Given the description of an element on the screen output the (x, y) to click on. 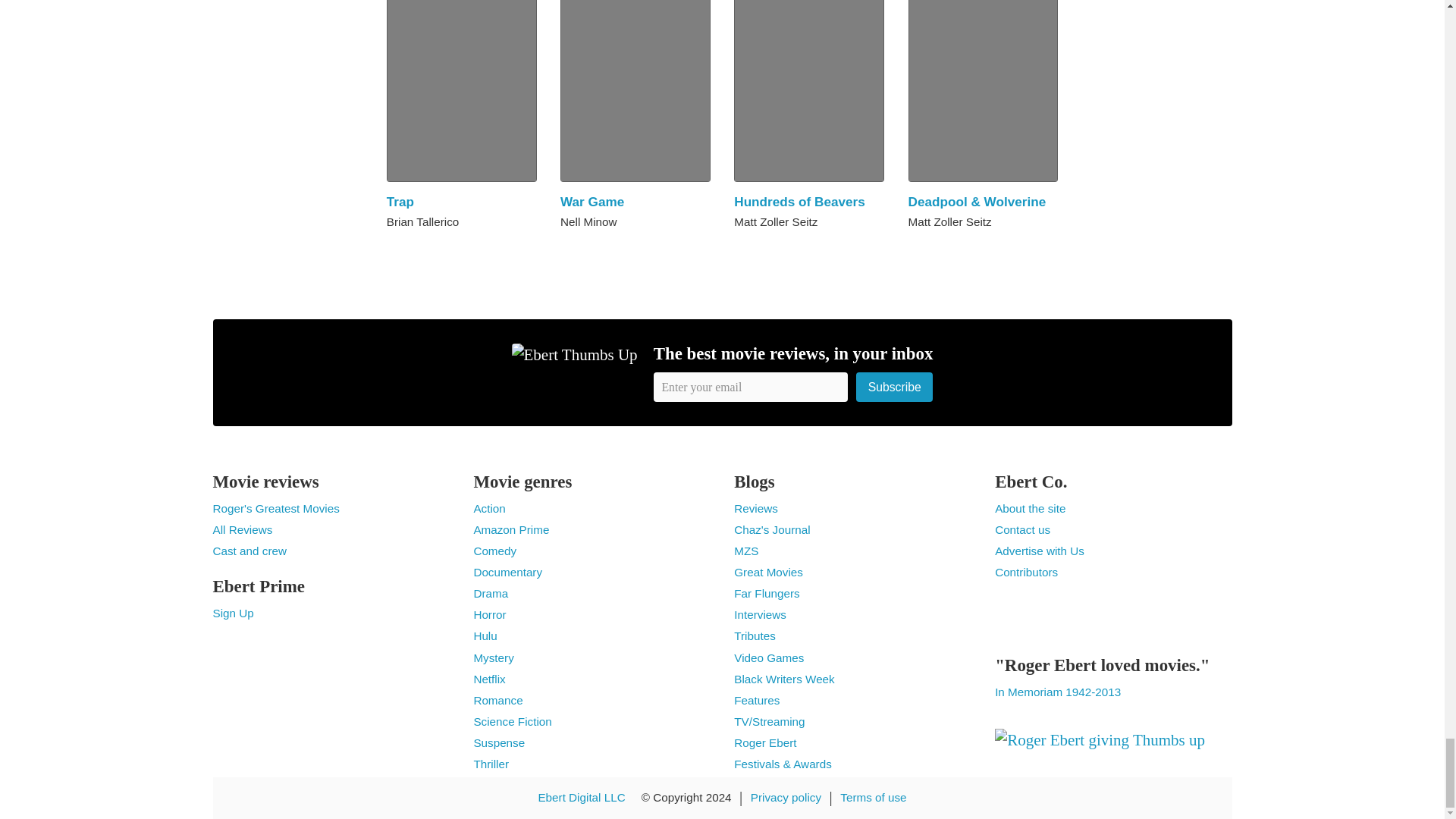
Subscribe (894, 387)
